Given the description of an element on the screen output the (x, y) to click on. 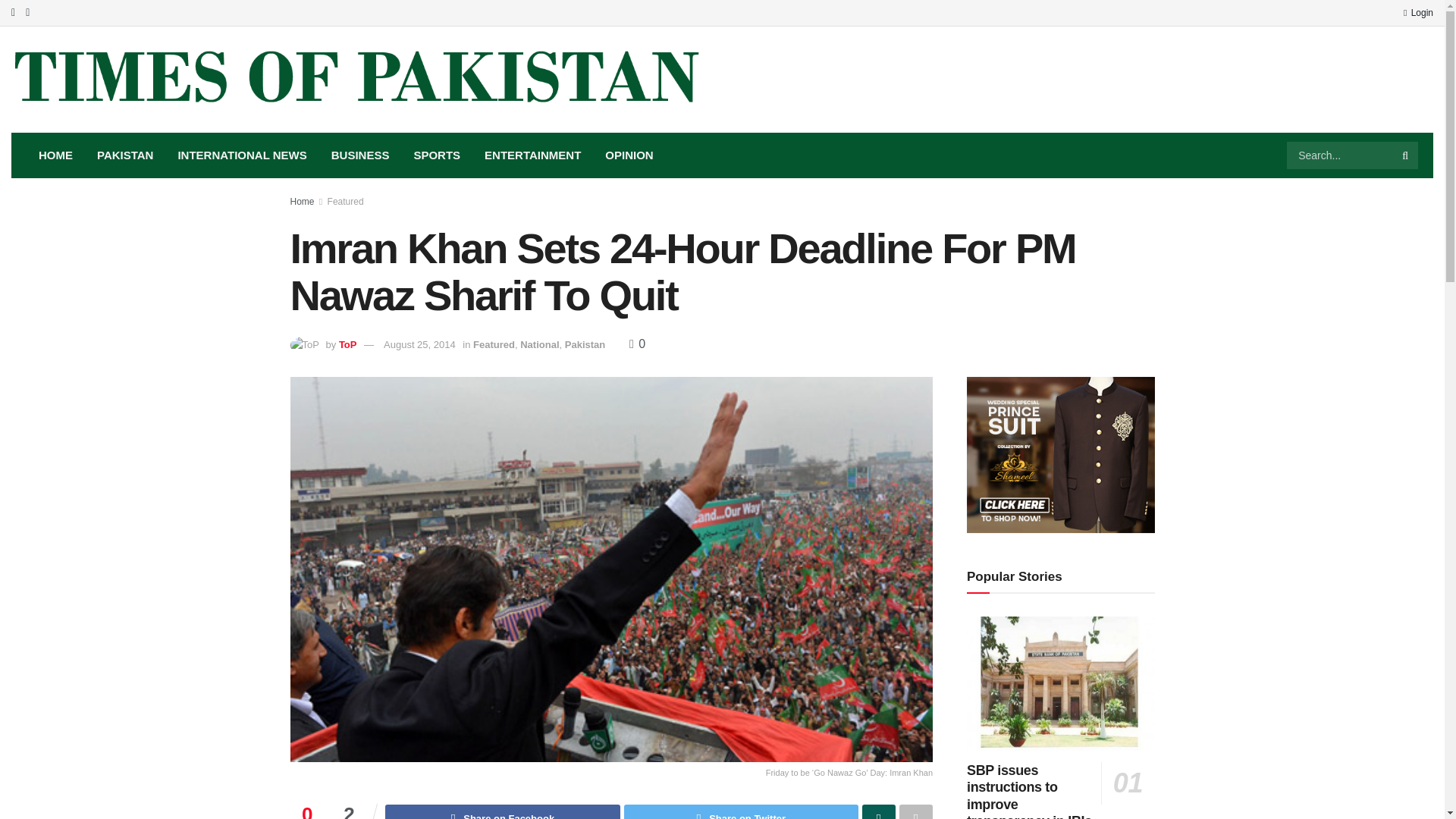
OPINION (628, 155)
Pakistan (584, 344)
Featured (494, 344)
PAKISTAN (124, 155)
Share on Twitter (741, 811)
ToP (347, 344)
Featured (345, 201)
SPORTS (436, 155)
August 25, 2014 (419, 344)
Home (301, 201)
